Given the description of an element on the screen output the (x, y) to click on. 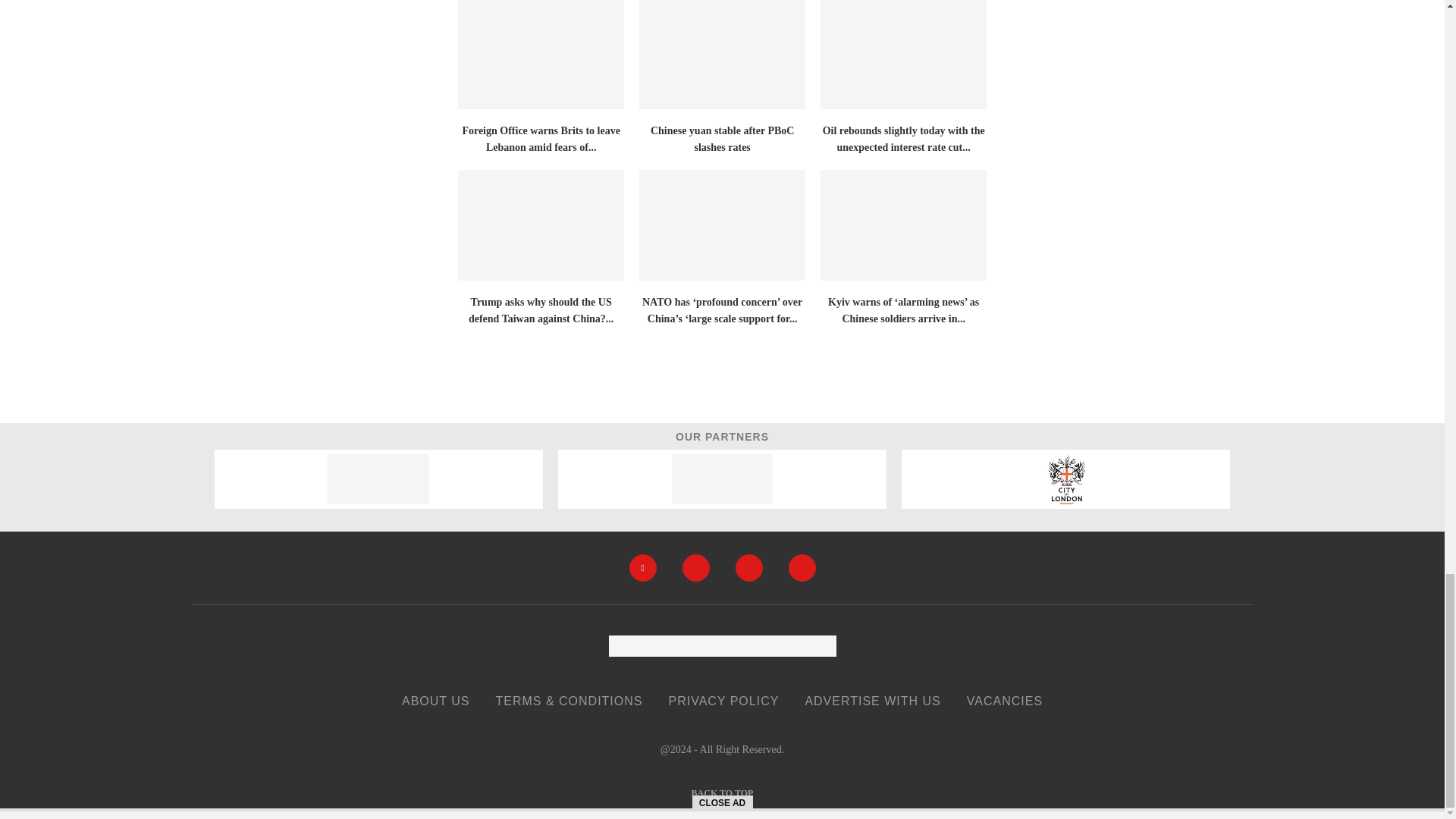
Chinese yuan stable after PBoC slashes rates (722, 54)
